Given the description of an element on the screen output the (x, y) to click on. 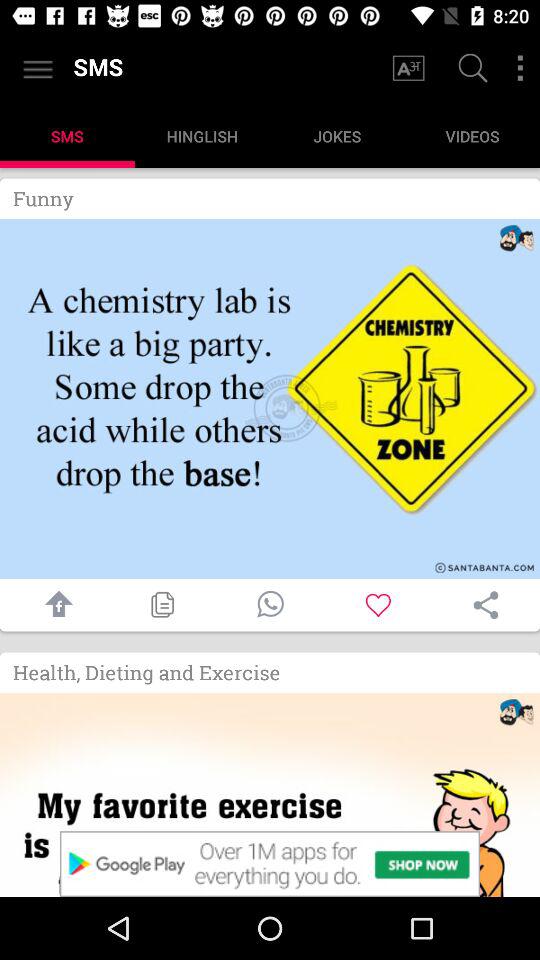
facebook button (54, 604)
